Given the description of an element on the screen output the (x, y) to click on. 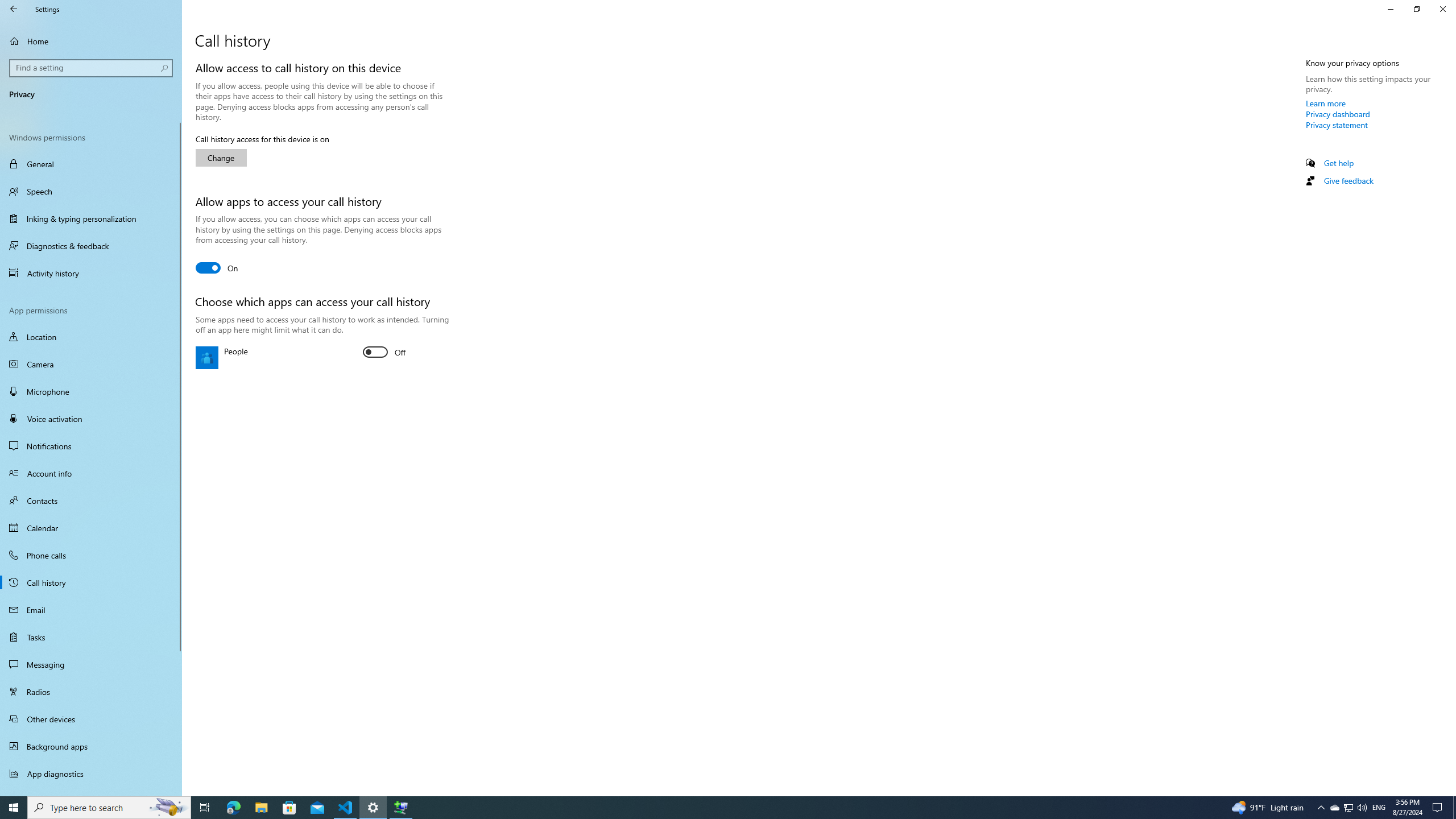
Privacy statement (1336, 124)
Automatic file downloads (91, 791)
Learn more (1326, 102)
Microphone (91, 390)
Account info (91, 472)
Messaging (91, 664)
Voice activation (91, 418)
